Given the description of an element on the screen output the (x, y) to click on. 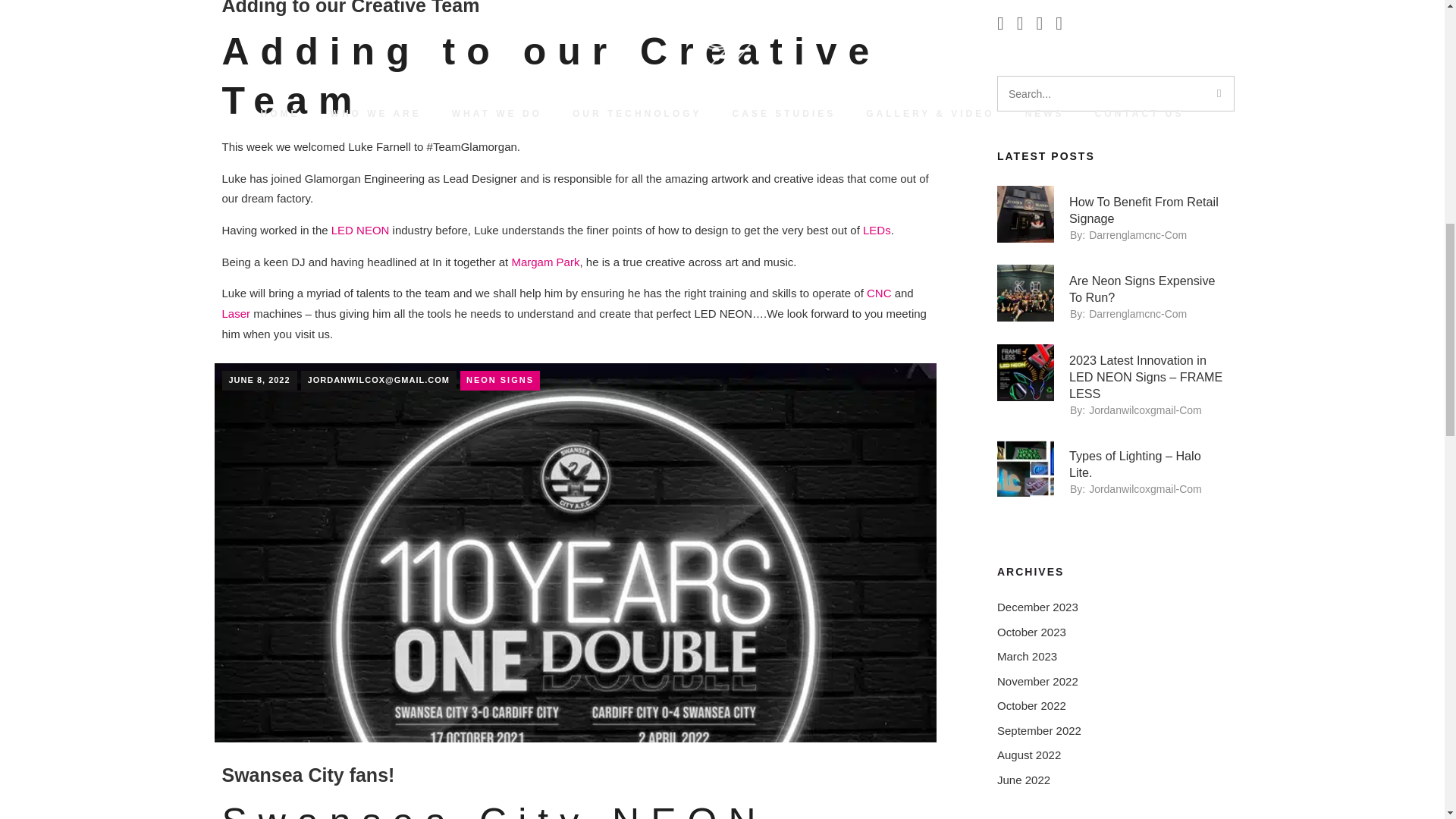
Adding to our Creative Team (575, 67)
Facebook (1005, 24)
Twitter (1024, 24)
Instagram (1063, 24)
LinkedIn (1044, 24)
